Given the description of an element on the screen output the (x, y) to click on. 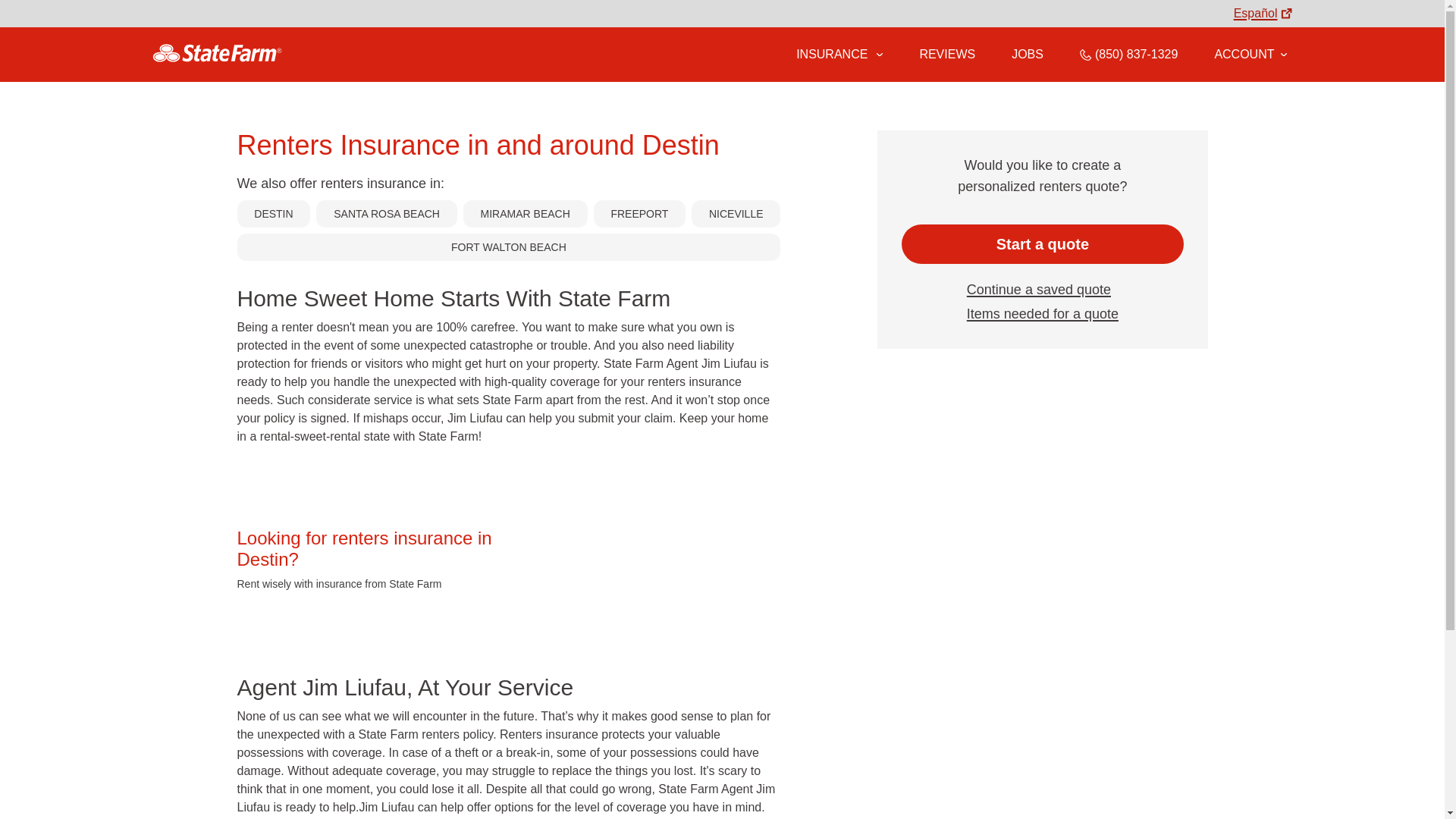
Insurance (839, 54)
Account Options (1250, 54)
INSURANCE (830, 54)
JOBS (1027, 54)
REVIEWS (946, 54)
ACCOUNT (1250, 54)
